Given the description of an element on the screen output the (x, y) to click on. 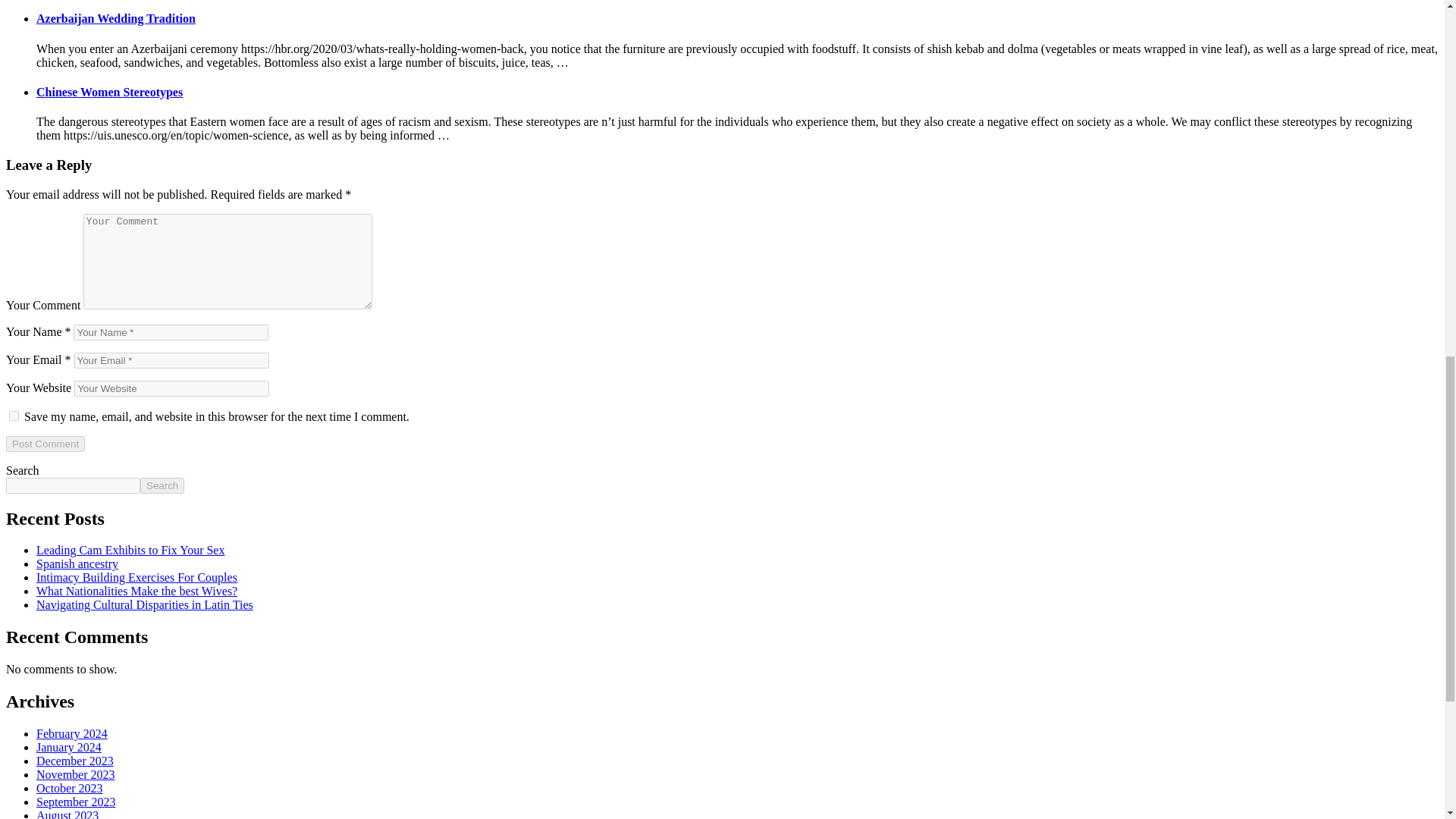
Navigating Cultural Disparities in Latin Ties (144, 604)
Post Comment (44, 443)
September 2023 (75, 801)
Search (161, 485)
December 2023 (74, 760)
Leading Cam Exhibits to Fix Your Sex (130, 549)
What Nationalities Make the best Wives? (136, 590)
Intimacy Building Exercises For Couples (136, 576)
January 2024 (68, 747)
October 2023 (69, 788)
Chinese Women Stereotypes (109, 91)
yes (13, 415)
Post Comment (44, 443)
February 2024 (71, 733)
November 2023 (75, 774)
